Given the description of an element on the screen output the (x, y) to click on. 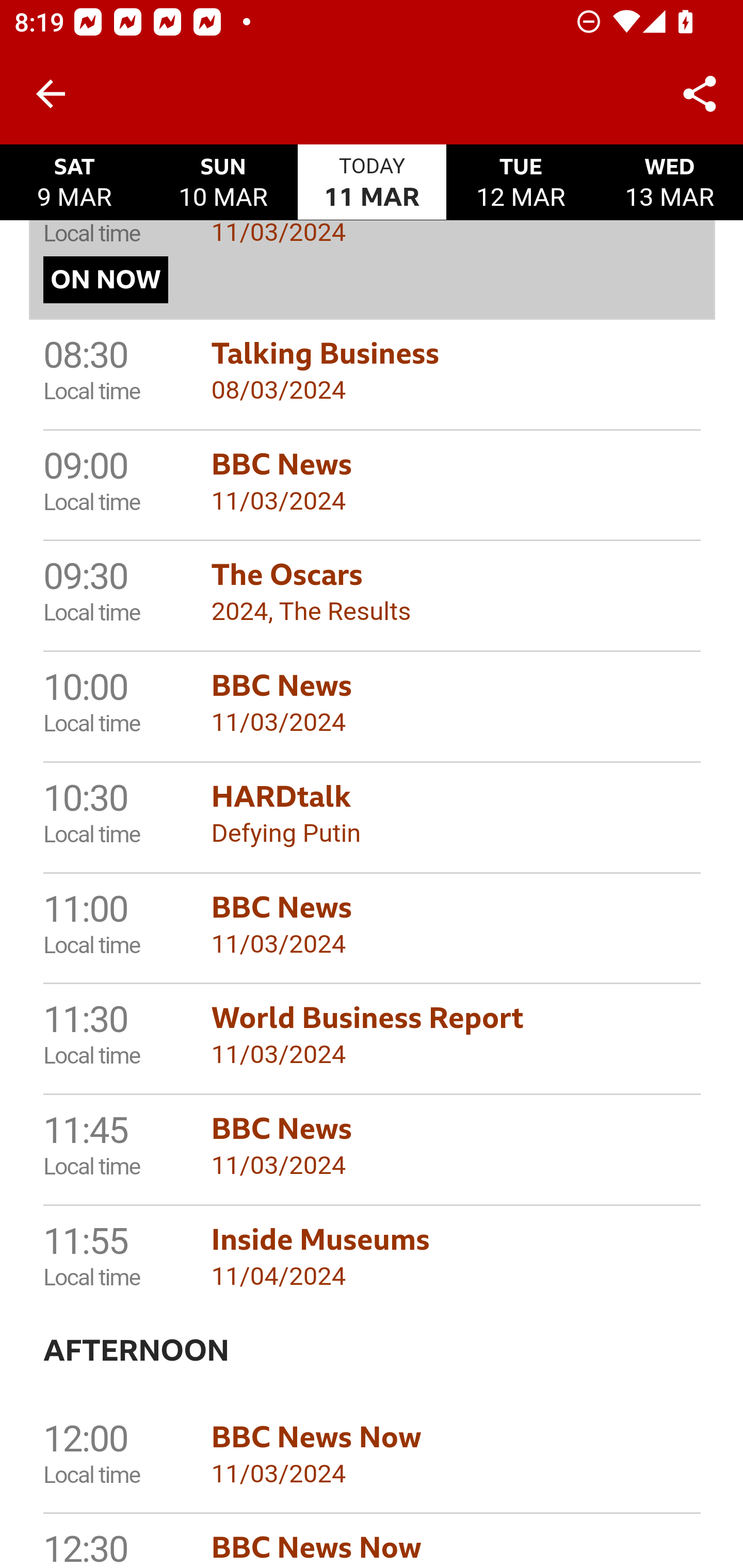
Back (50, 93)
Share (699, 93)
Saturday 9 March  SAT 9 MAR (74, 182)
Sunday 10 March  SUN 10 MAR (222, 182)
Tuesday 12 March  TUE 12 MAR (520, 182)
Wednesday 13 March  WED 13 MAR (668, 182)
